Given the description of an element on the screen output the (x, y) to click on. 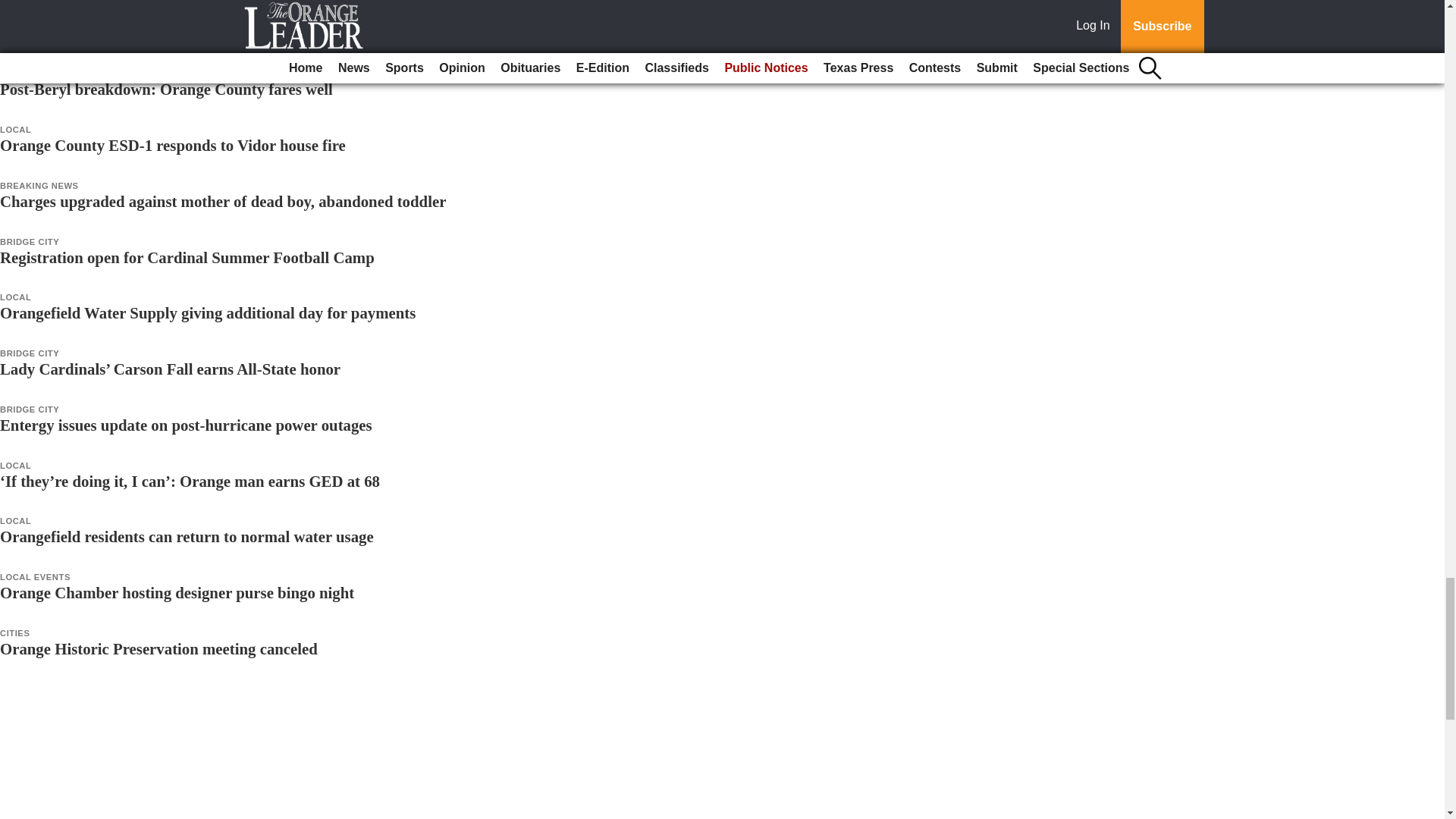
Registration open for Cardinal Summer Football Camp (187, 257)
Post-Beryl breakdown: Orange County fares well (166, 88)
Orange County ESD-1 responds to Vidor house fire (173, 144)
Orangefield Water Supply giving additional day for payments (207, 312)
